Given the description of an element on the screen output the (x, y) to click on. 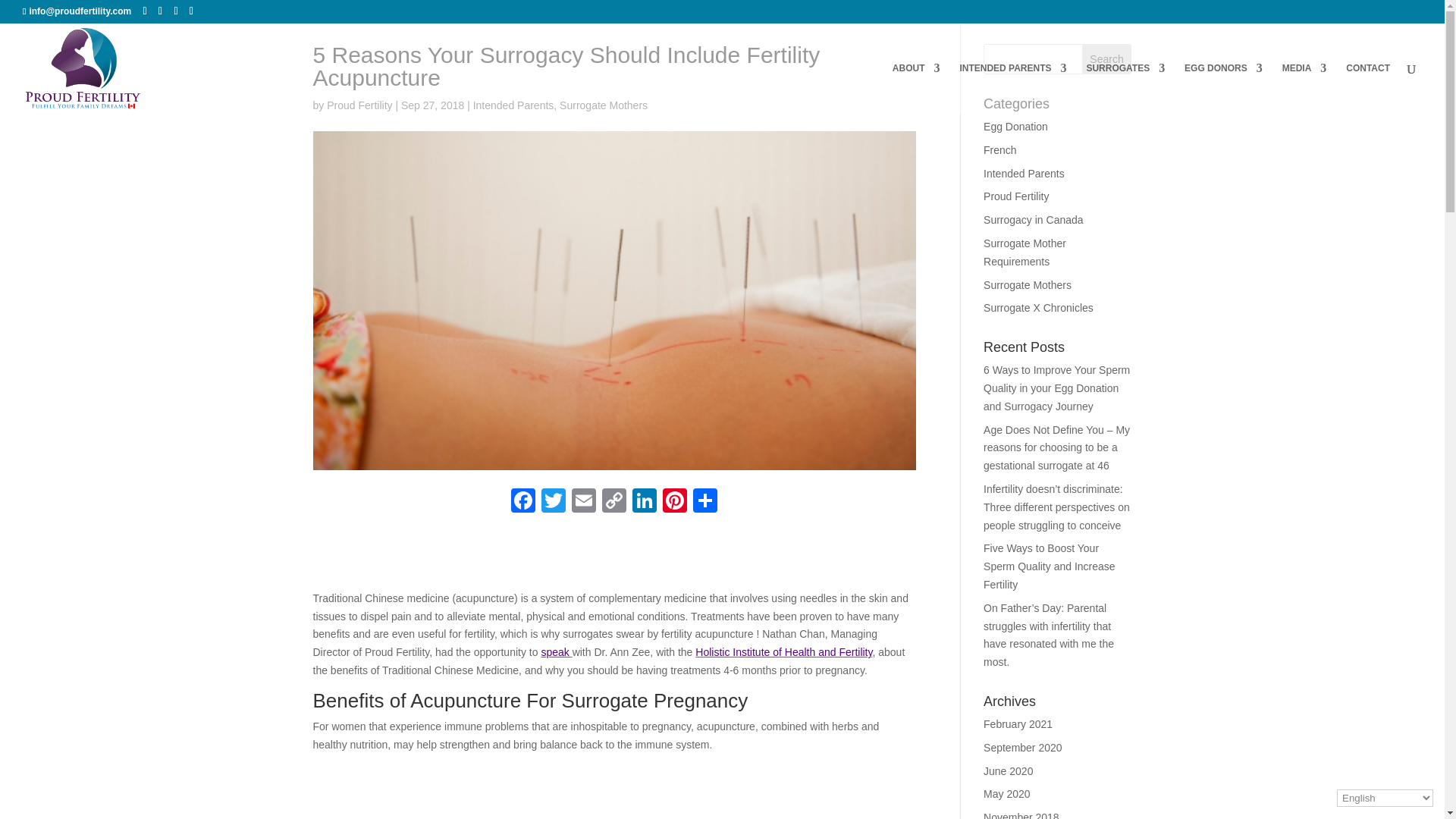
Pinterest (674, 502)
Posts by Proud Fertility (358, 105)
Search (1106, 59)
ABOUT (916, 88)
Copy Link (613, 502)
Email (583, 502)
Facebook (523, 502)
Twitter (553, 502)
LinkedIn (643, 502)
INTENDED PARENTS (1012, 88)
